Given the description of an element on the screen output the (x, y) to click on. 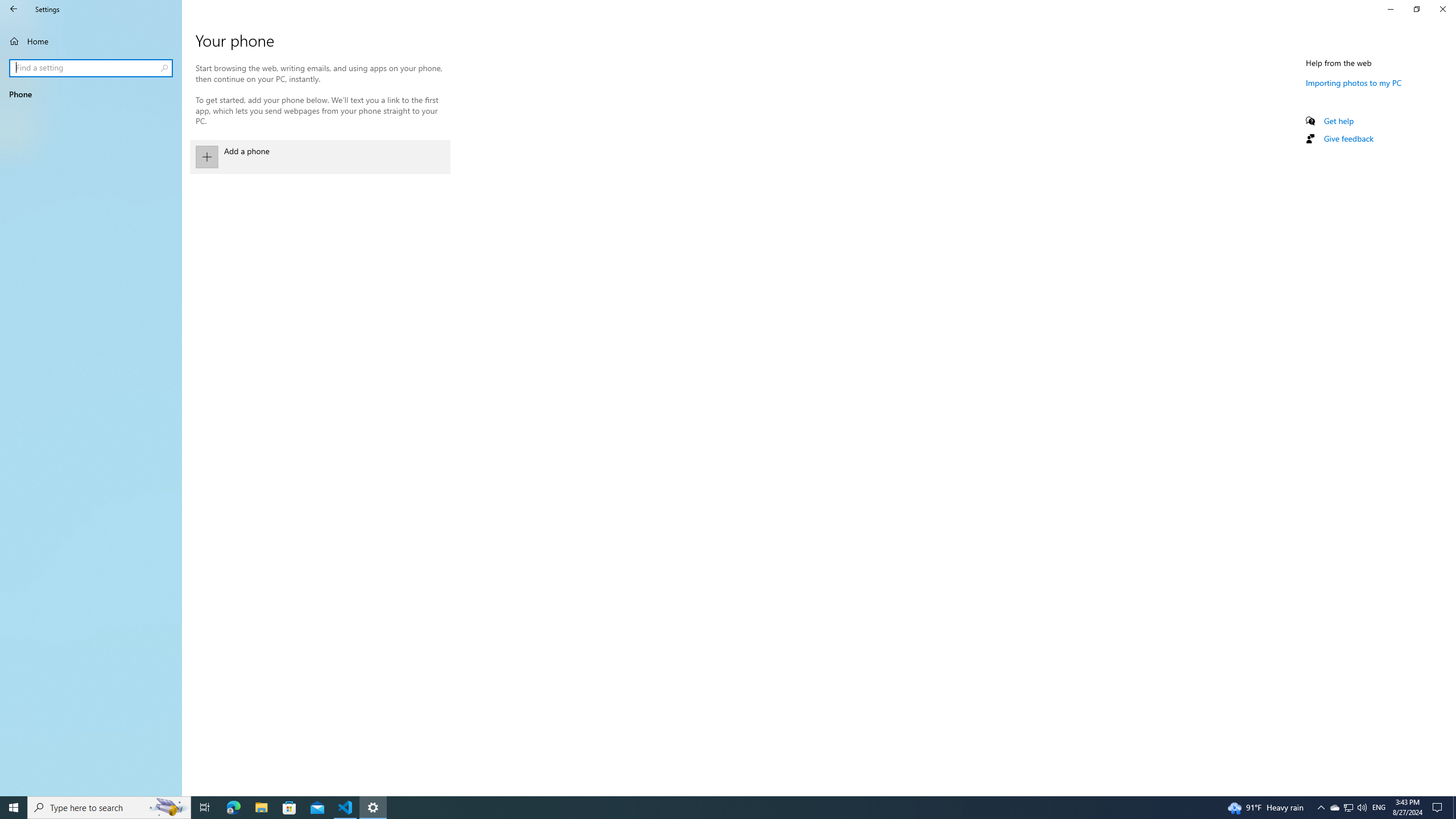
Tray Input Indicator - English (United States) (1378, 807)
Running applications (706, 807)
Restore Settings (1416, 9)
